Given the description of an element on the screen output the (x, y) to click on. 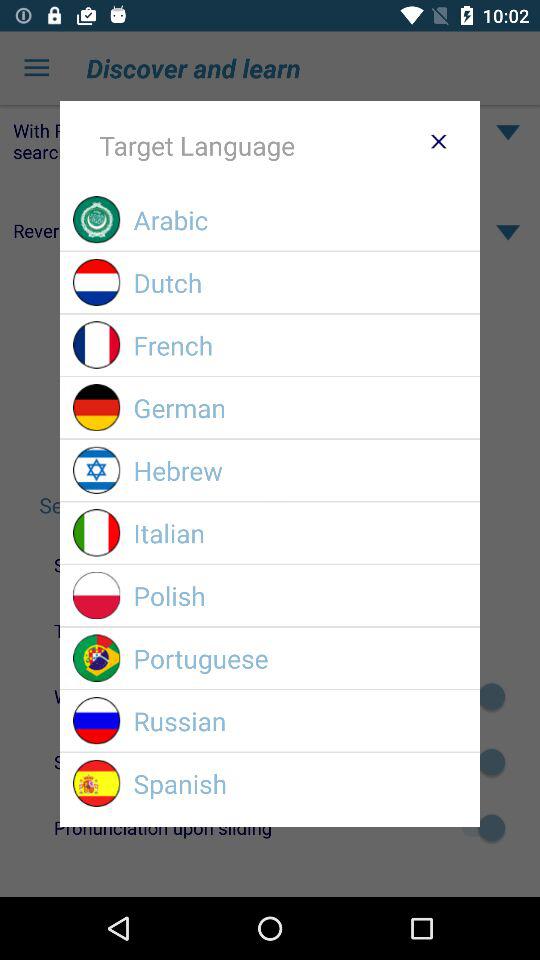
close option (438, 141)
